Given the description of an element on the screen output the (x, y) to click on. 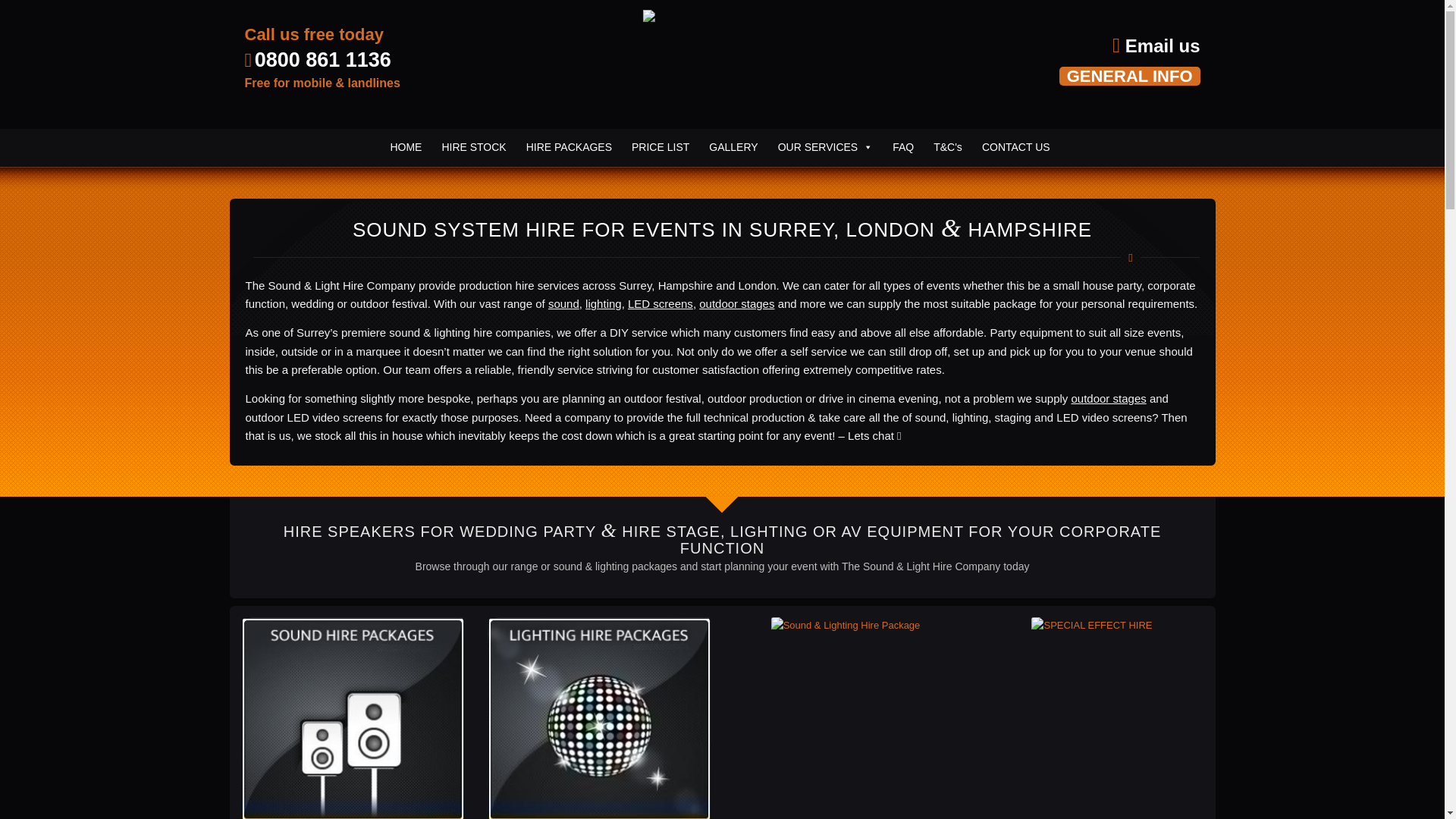
PRICE LIST (660, 146)
HIRE STOCK (473, 146)
SPECIAL EFFECT HIRE (1090, 625)
OUR SERVICES (825, 146)
SOUND HIRE PACKAGES (352, 718)
GALLERY (733, 146)
HIRE PACKAGES (569, 146)
HOME (405, 146)
